Given the description of an element on the screen output the (x, y) to click on. 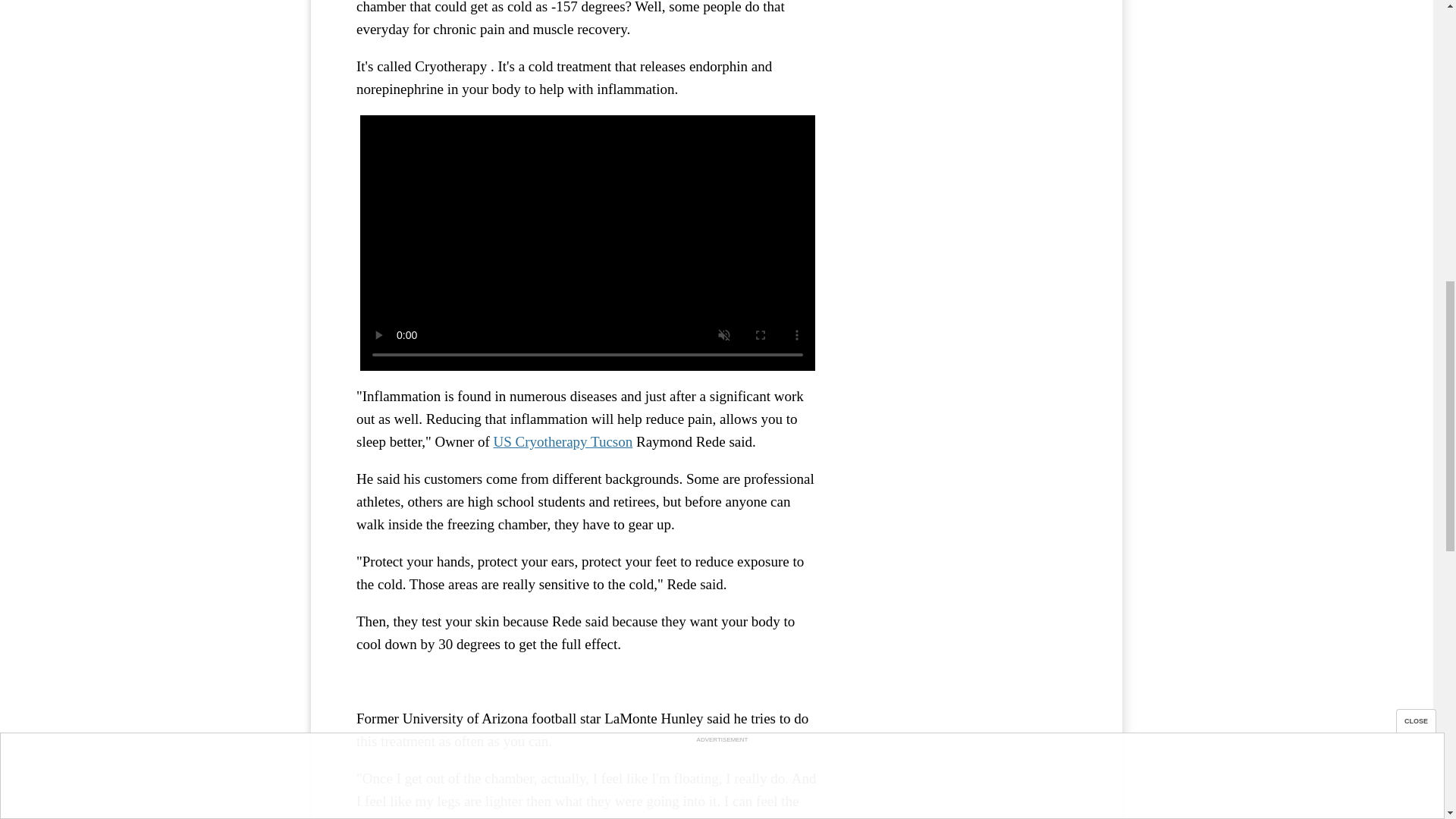
3rd party ad content (962, 51)
